Given the description of an element on the screen output the (x, y) to click on. 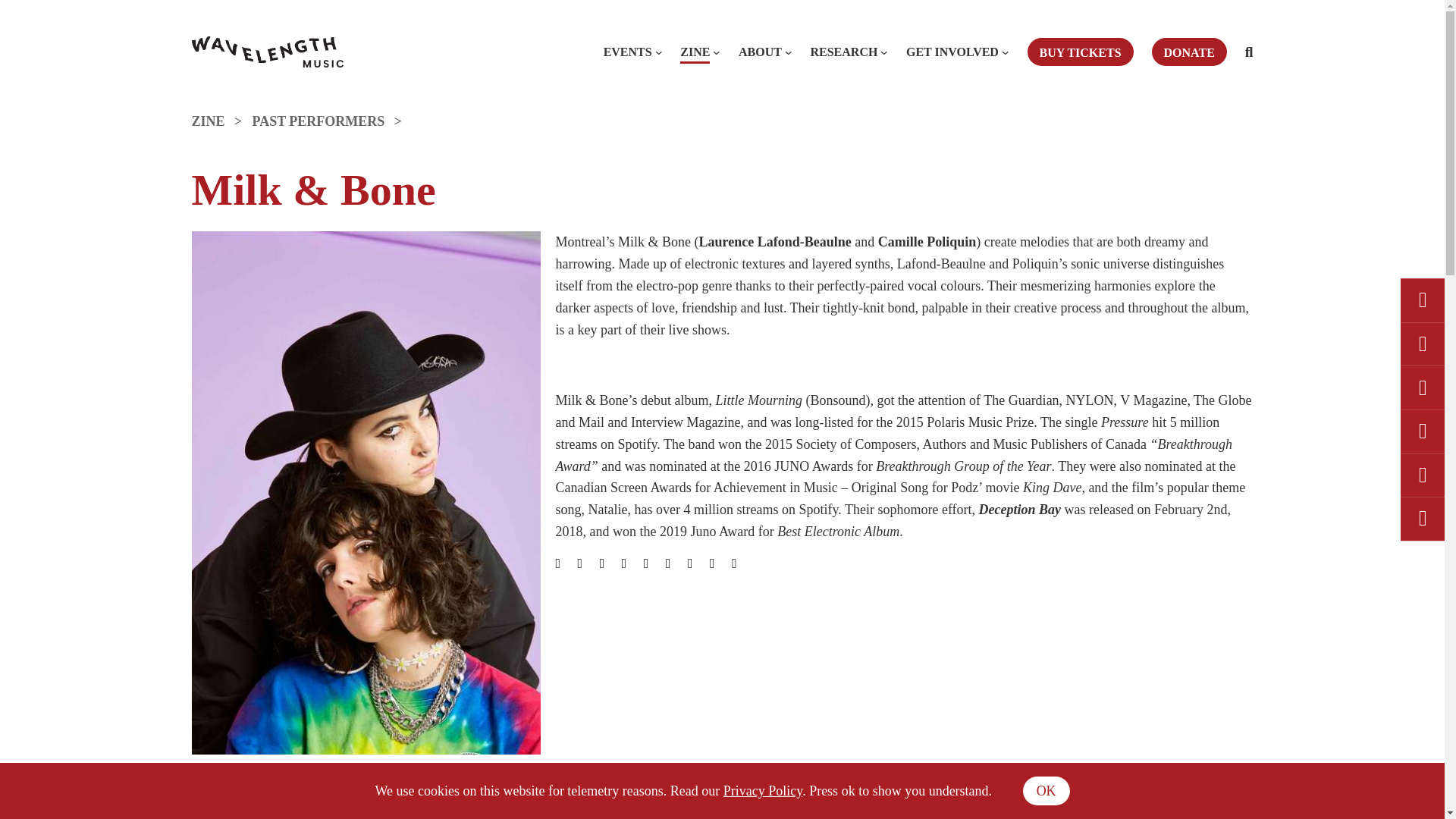
ZINE (220, 121)
ZINE (694, 52)
DONATE (1189, 51)
GET INVOLVED (951, 52)
PAST PERFORMERS (331, 121)
ABOUT (759, 52)
EVENTS (628, 52)
RESEARCH (843, 52)
BUY TICKETS (1080, 51)
Past Performers (331, 121)
